Given the description of an element on the screen output the (x, y) to click on. 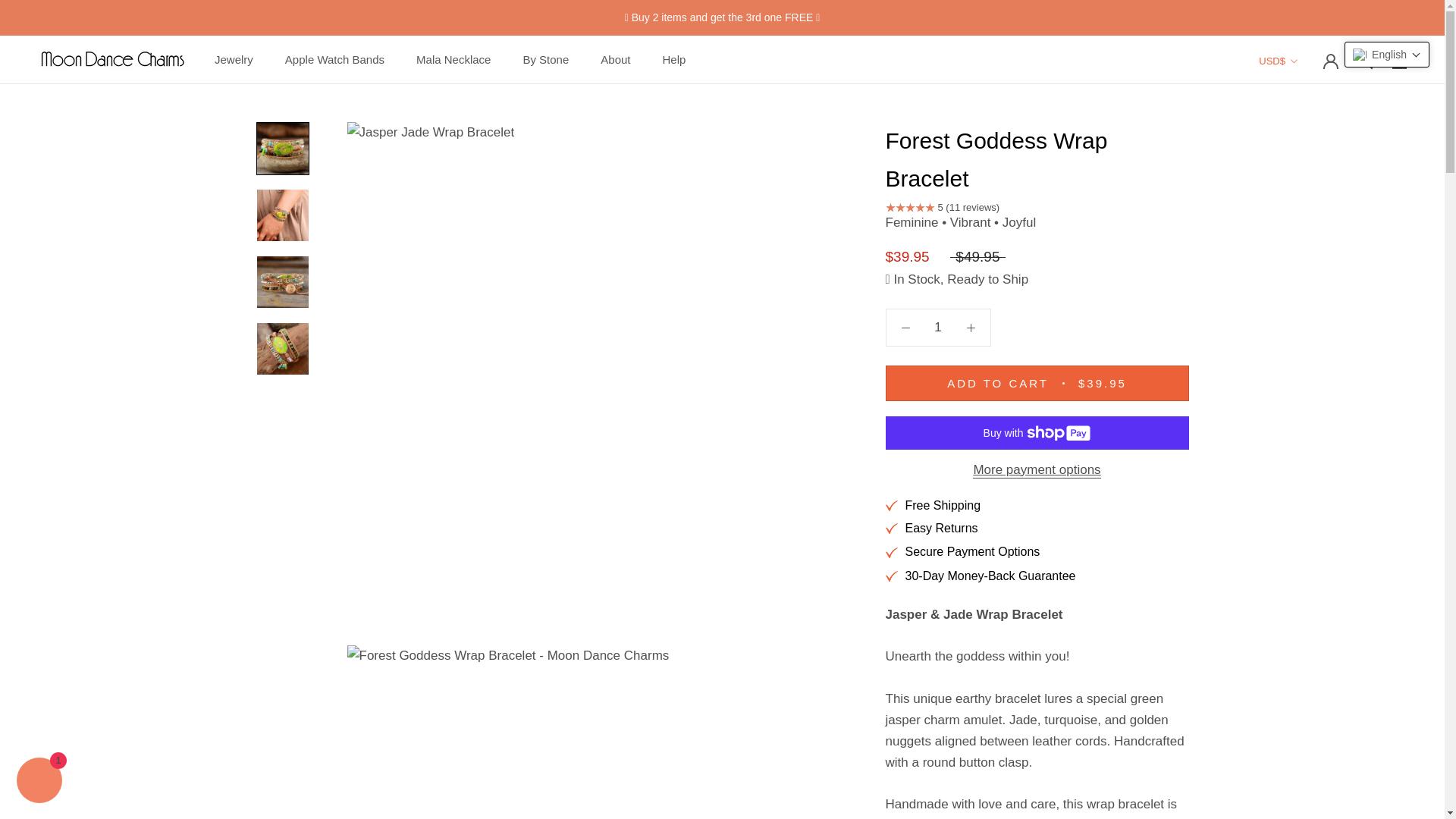
1 (938, 327)
Shopify online store chat (38, 781)
